Given the description of an element on the screen output the (x, y) to click on. 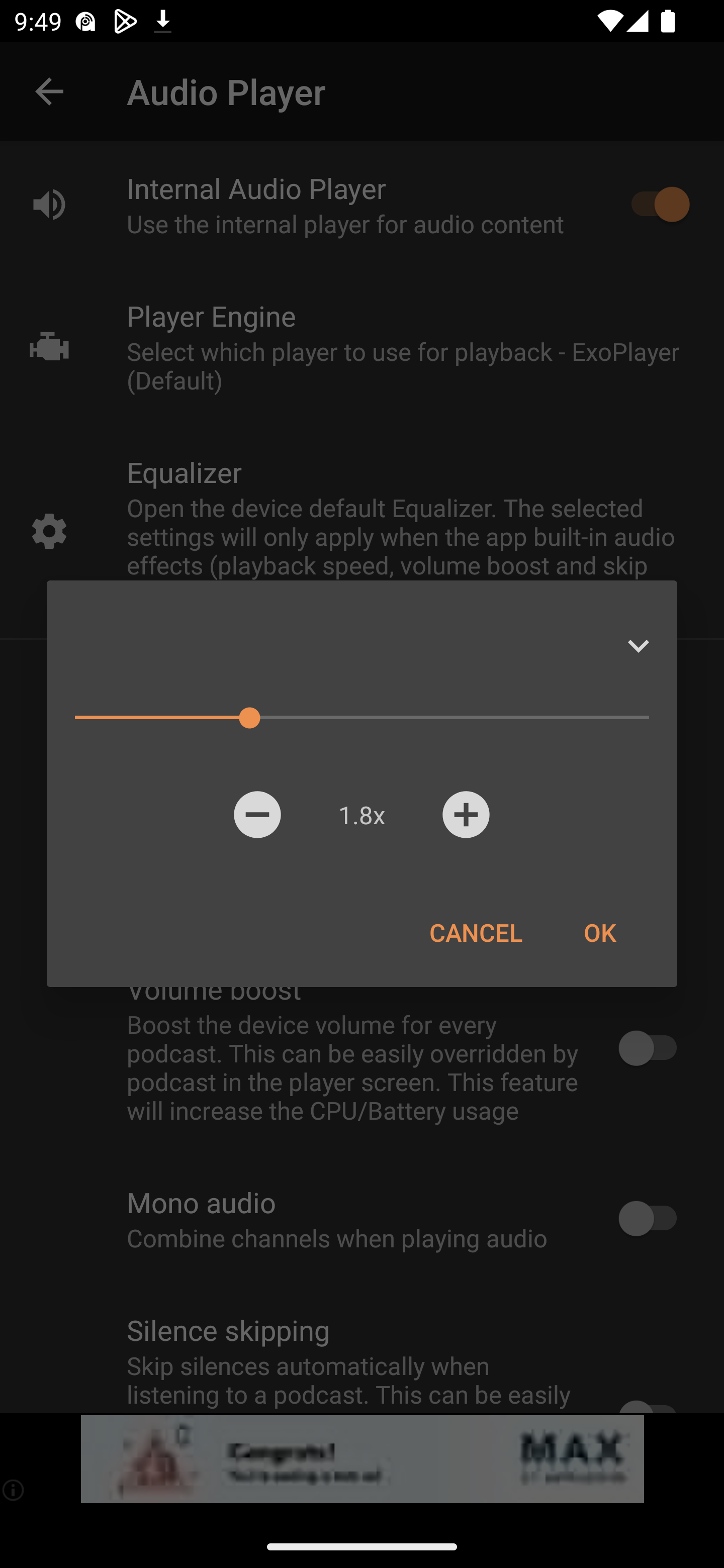
Expand (637, 645)
1.8x (361, 814)
CANCEL (475, 932)
OK (599, 932)
